Given the description of an element on the screen output the (x, y) to click on. 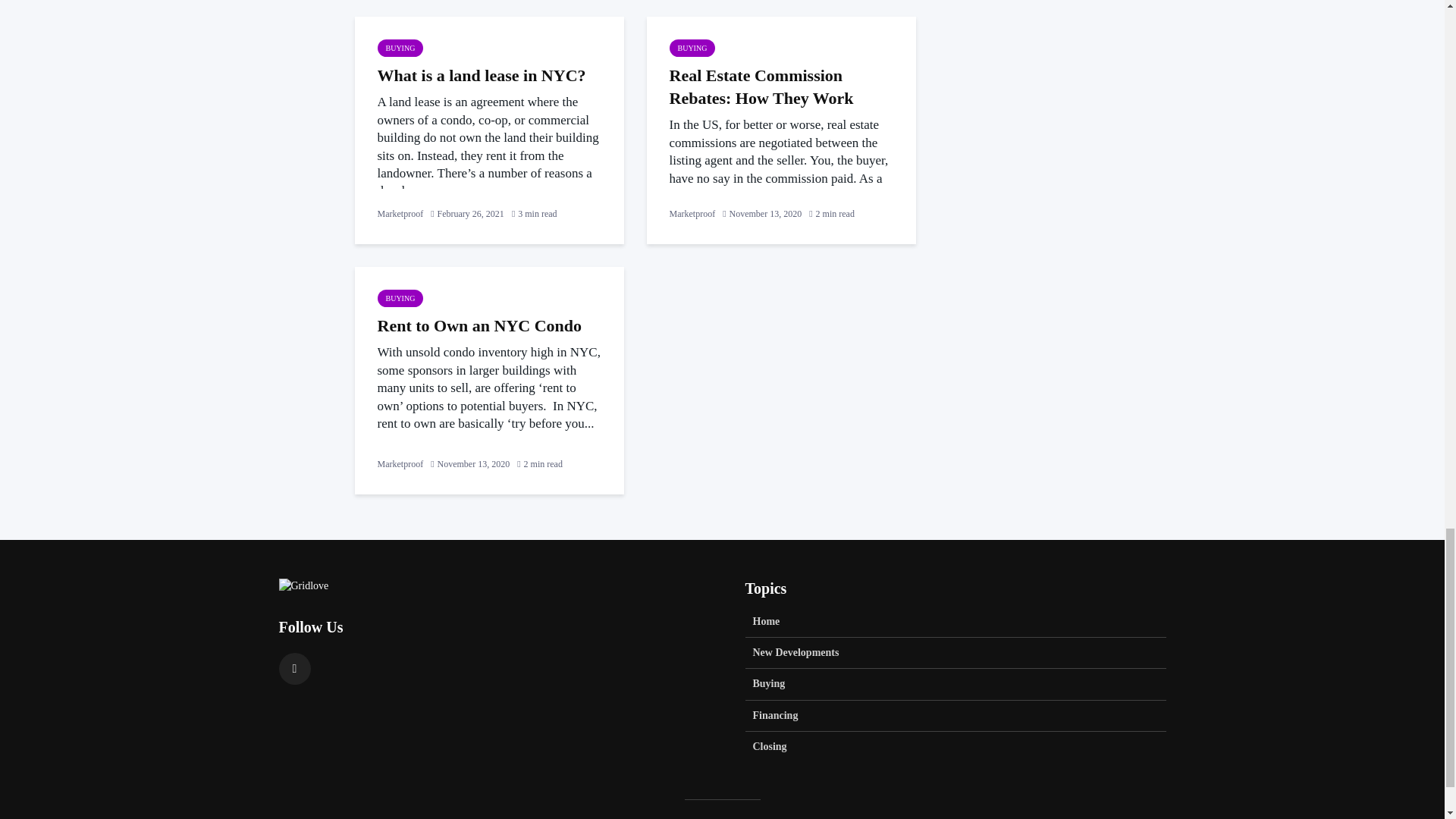
BUYING (400, 47)
Marketproof (400, 463)
What is a land lease in NYC? (489, 75)
Rent to Own an NYC Condo (489, 325)
BUYING (691, 47)
Marketproof (691, 213)
Marketproof (400, 213)
Real Estate Commission Rebates: How They Work (780, 86)
BUYING (400, 298)
